Given the description of an element on the screen output the (x, y) to click on. 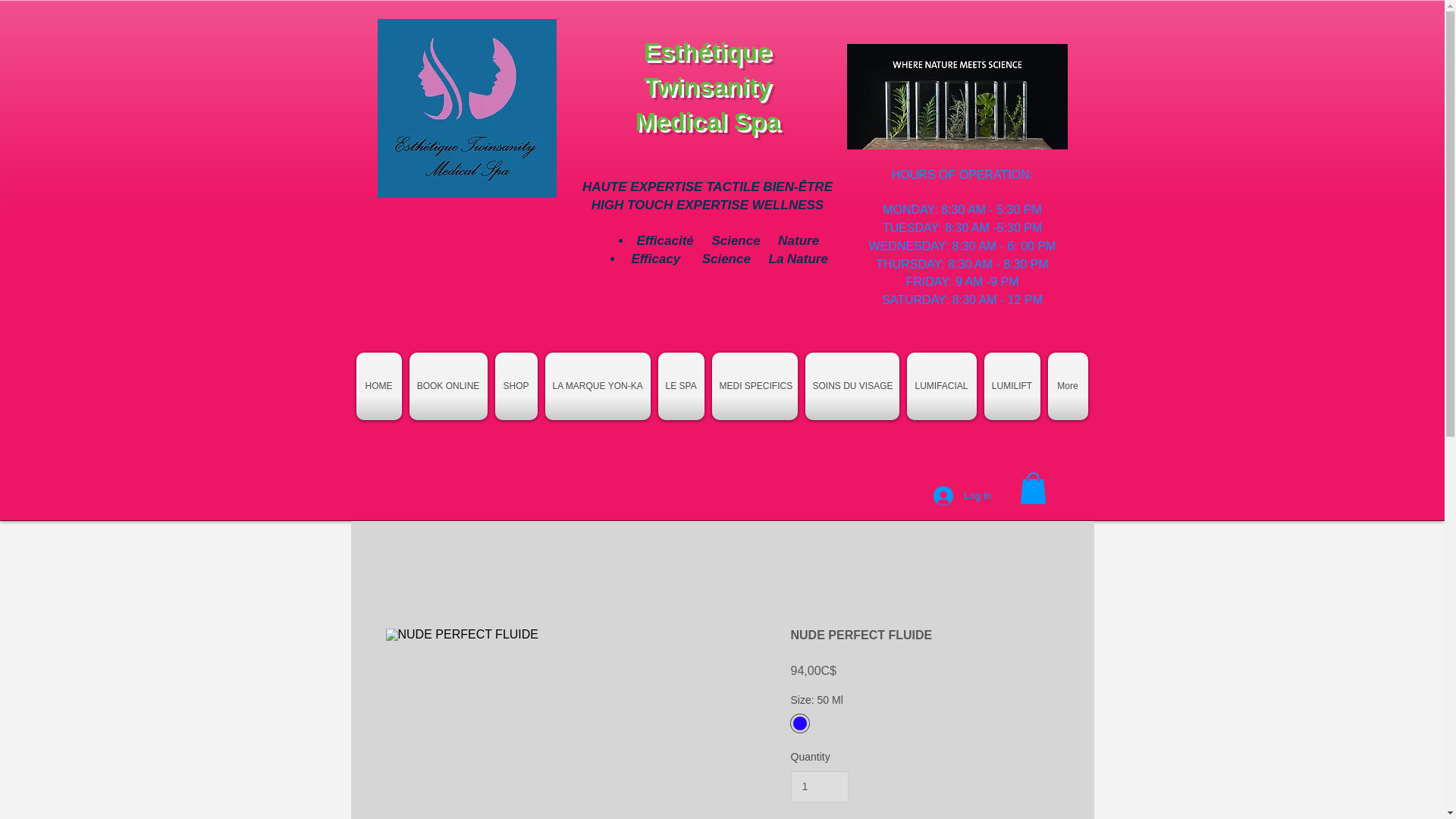
1 (818, 786)
MEDI SPECIFICS (754, 386)
LUMILIFT (1011, 386)
LE SPA (680, 386)
BOOK ONLINE (447, 386)
SOINS DU VISAGE (851, 386)
HOME (381, 386)
SHOP (516, 386)
LA MARQUE YON-KA (597, 386)
LUMIFACIAL (940, 386)
Yonka Sleeping.jpg (466, 108)
Log In (962, 495)
